Given the description of an element on the screen output the (x, y) to click on. 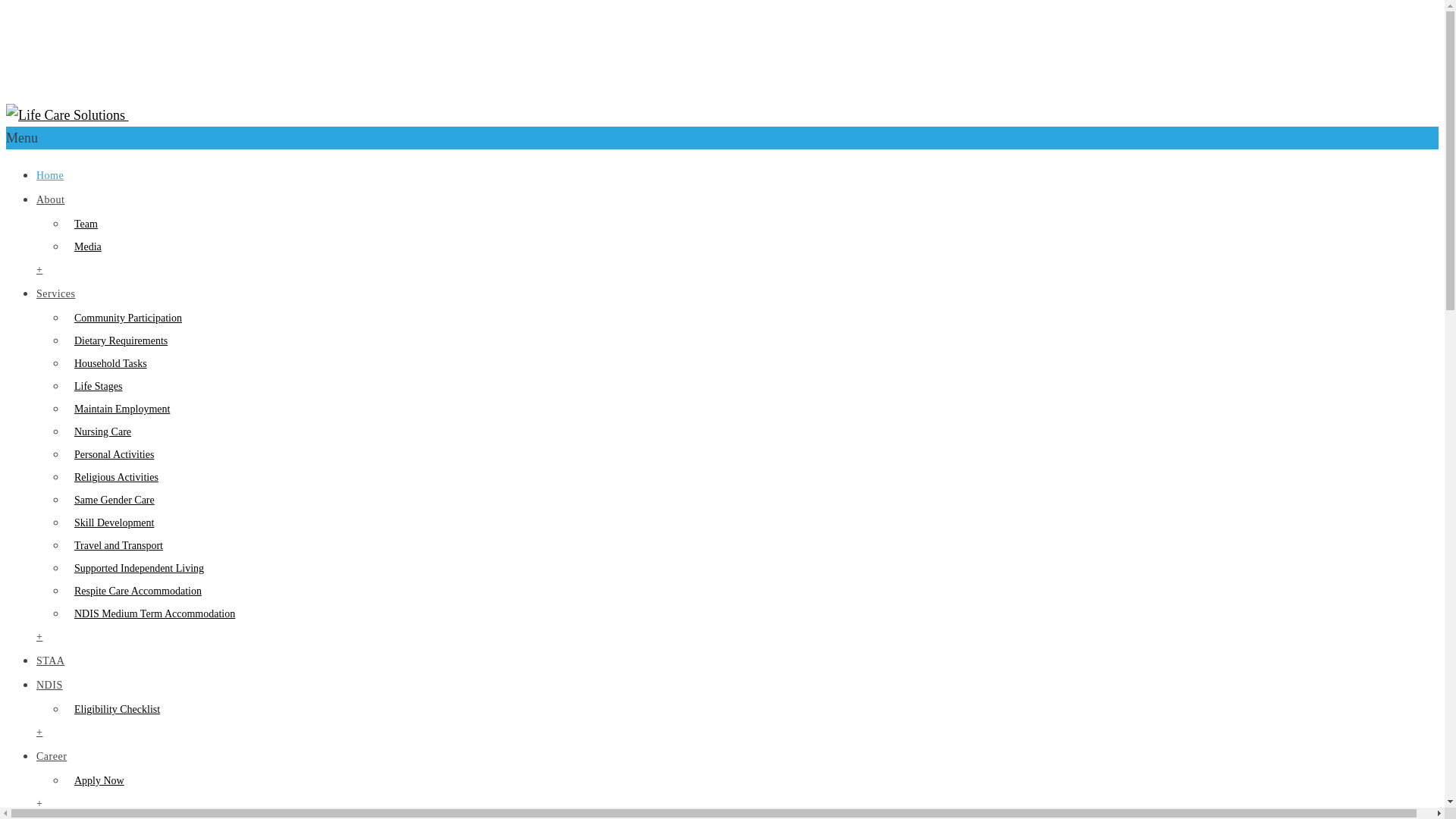
NDIS Element type: text (49, 684)
Services Element type: text (55, 293)
Life Care Solutions Element type: hover (241, 62)
Respite Care Accommodation Element type: text (133, 590)
Apply Now Element type: text (95, 780)
About Element type: text (50, 199)
Life Care Solutions Element type: hover (65, 114)
Same Gender Care Element type: text (110, 499)
Skill Development Element type: text (109, 522)
Personal Activities Element type: text (109, 454)
Career Element type: text (51, 756)
Travel and Transport Element type: text (114, 545)
Community Participation Element type: text (124, 317)
Home Element type: text (49, 175)
+ Element type: text (39, 803)
+ Element type: text (39, 636)
Life Stages Element type: text (94, 385)
Household Tasks Element type: text (106, 363)
Supported Independent Living Element type: text (134, 567)
Dietary Requirements Element type: text (116, 340)
Nursing Care Element type: text (98, 431)
Media Element type: text (83, 246)
Maintain Employment Element type: text (117, 408)
Religious Activities Element type: text (112, 476)
NDIS Medium Term Accommodation Element type: text (150, 613)
+ Element type: text (39, 269)
STAA Element type: text (50, 660)
Eligibility Checklist Element type: text (113, 708)
+ Element type: text (39, 731)
Life Care Solutions Element type: hover (180, 114)
Team Element type: text (81, 223)
